Given the description of an element on the screen output the (x, y) to click on. 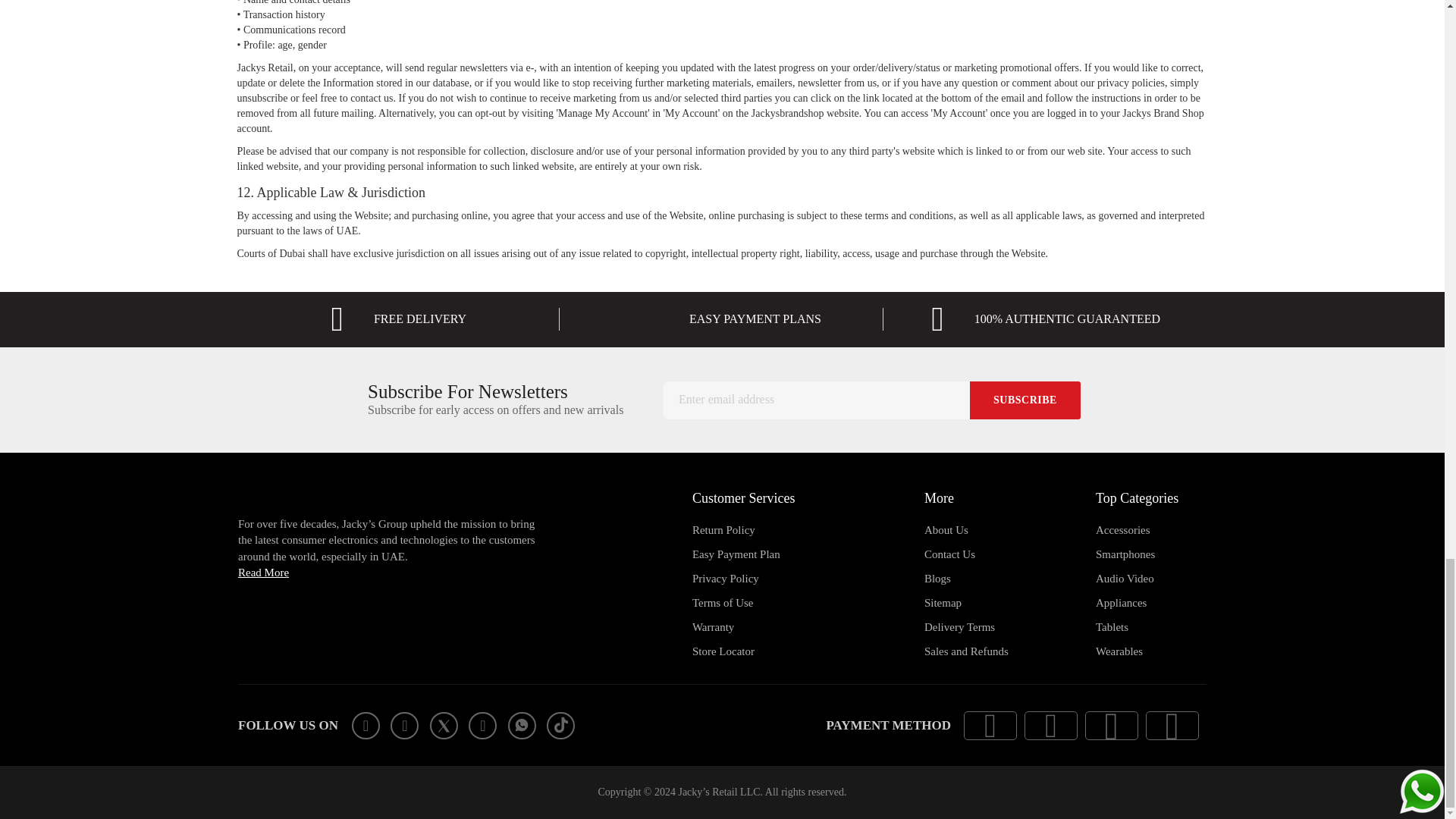
Twitter (443, 725)
Subscribe Now (1024, 400)
Facebook (365, 725)
Instagram (403, 725)
